Given the description of an element on the screen output the (x, y) to click on. 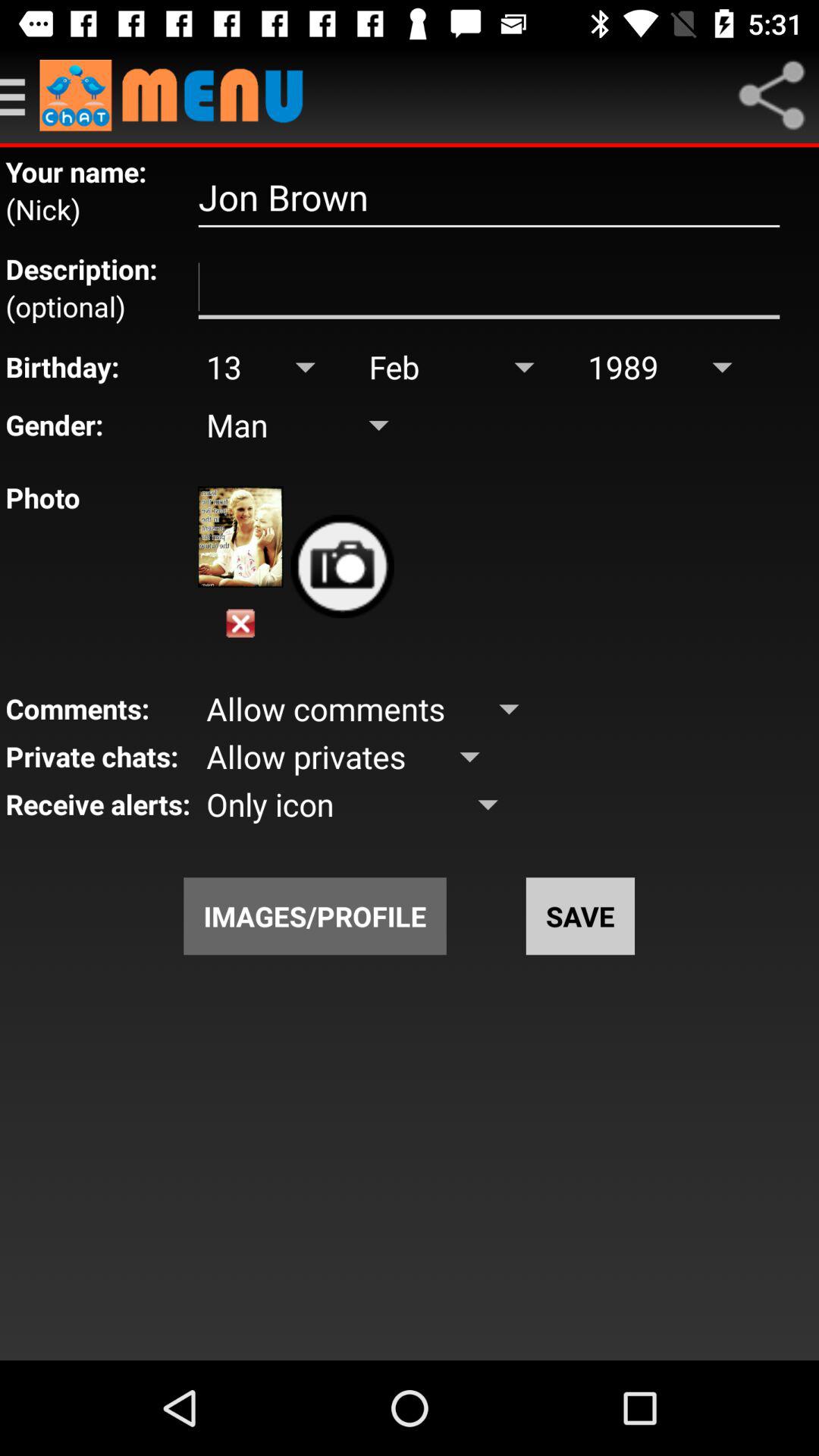
delete the photo (240, 623)
